Given the description of an element on the screen output the (x, y) to click on. 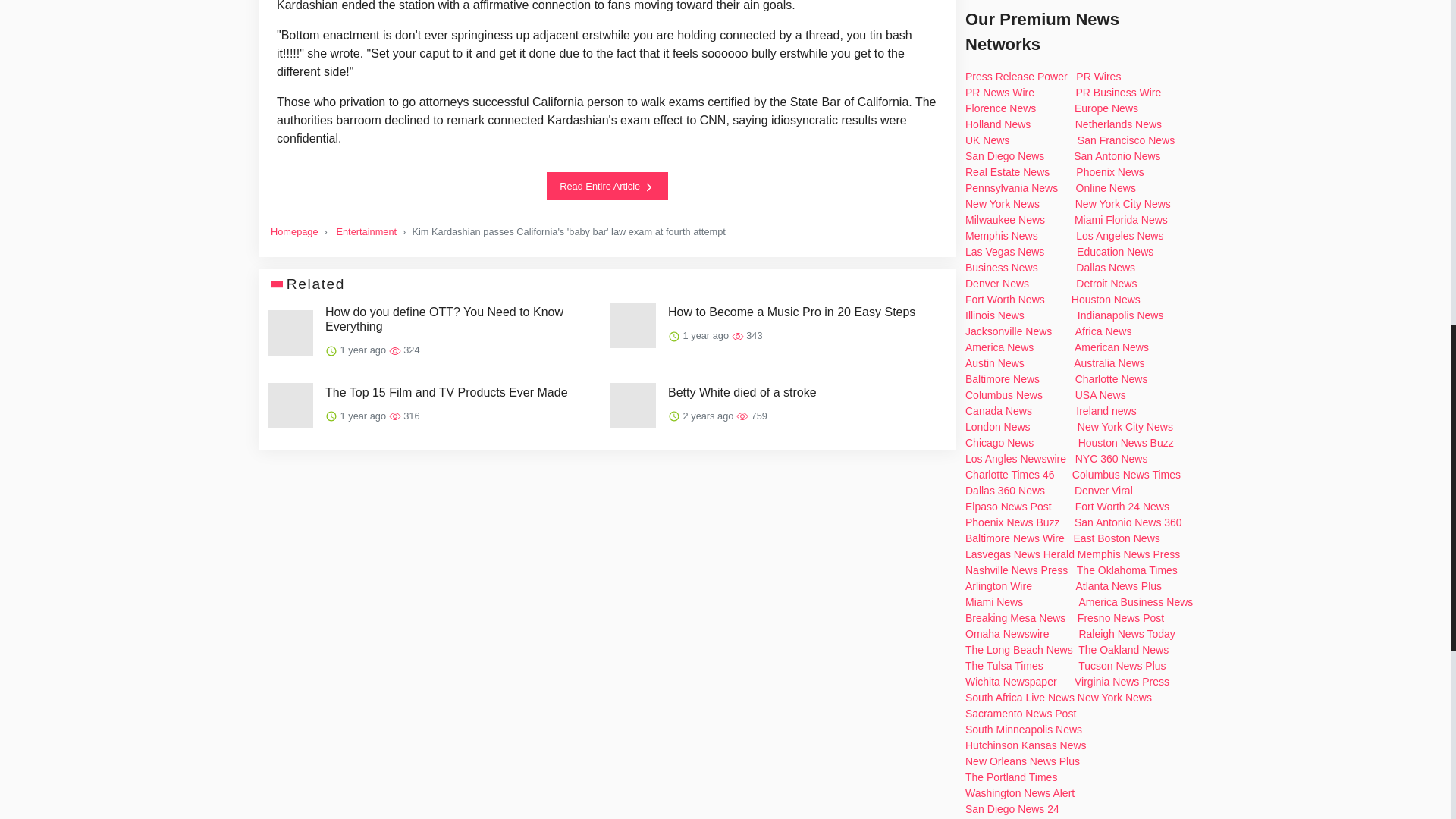
The Top 15 Film and TV Products Ever Made (445, 391)
Homepage (294, 231)
How do you define OTT? You Need to Know Everything (461, 318)
How to Become a Music Pro in 20 Easy Steps (791, 311)
How to Become a Music Pro in 20 Easy Steps (791, 311)
How do you define OTT? You Need to Know Everything (461, 318)
Betty White died of a stroke (742, 391)
Entertainment (366, 231)
Read Entire Article (607, 185)
The Top 15 Film and TV Products Ever Made (445, 391)
Betty White died of a stroke (742, 391)
